Given the description of an element on the screen output the (x, y) to click on. 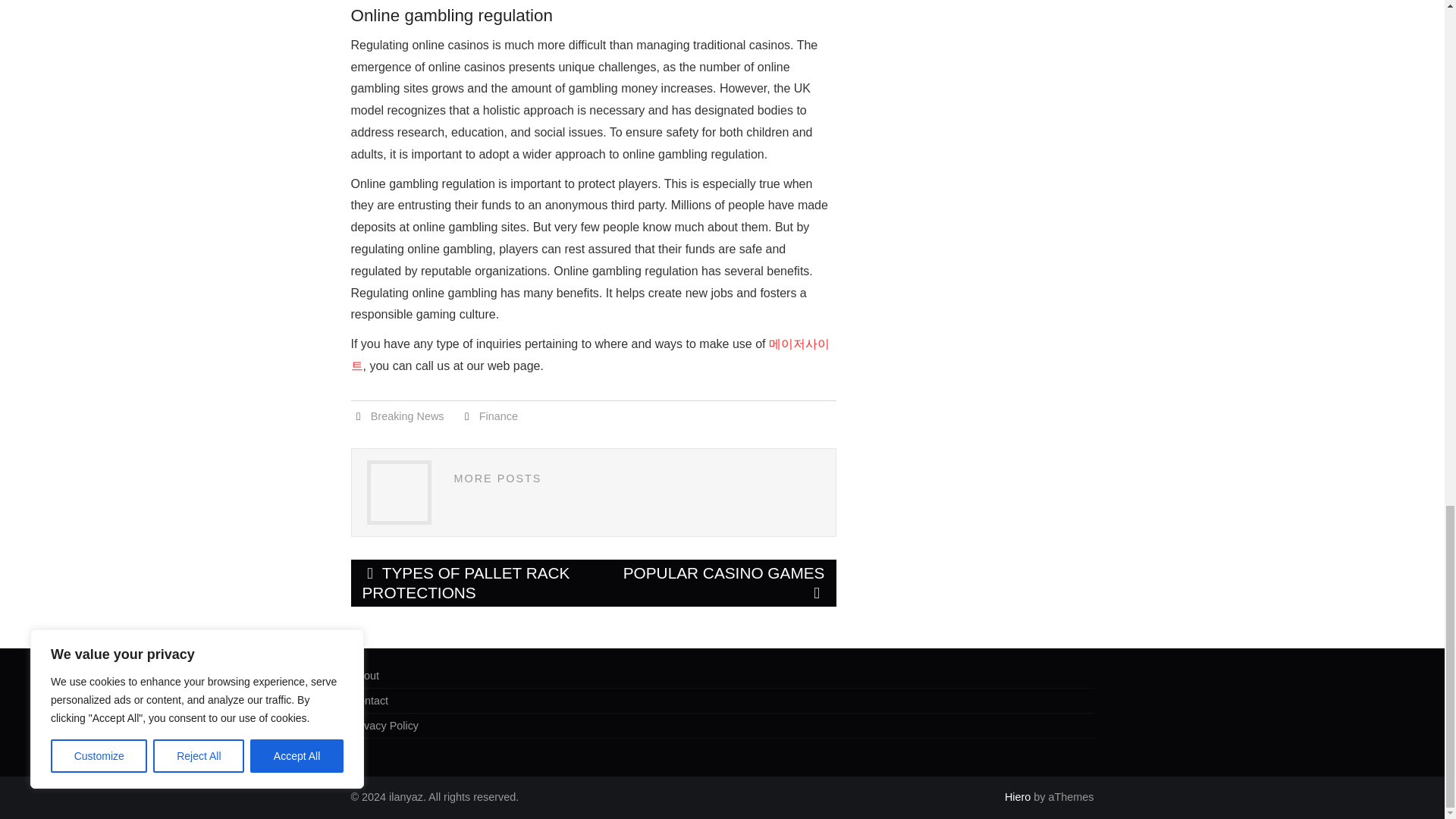
MORE POSTS (496, 478)
TYPES OF PALLET RACK PROTECTIONS (471, 582)
POPULAR CASINO GAMES (713, 582)
Breaking News (407, 416)
Finance (498, 416)
